Given the description of an element on the screen output the (x, y) to click on. 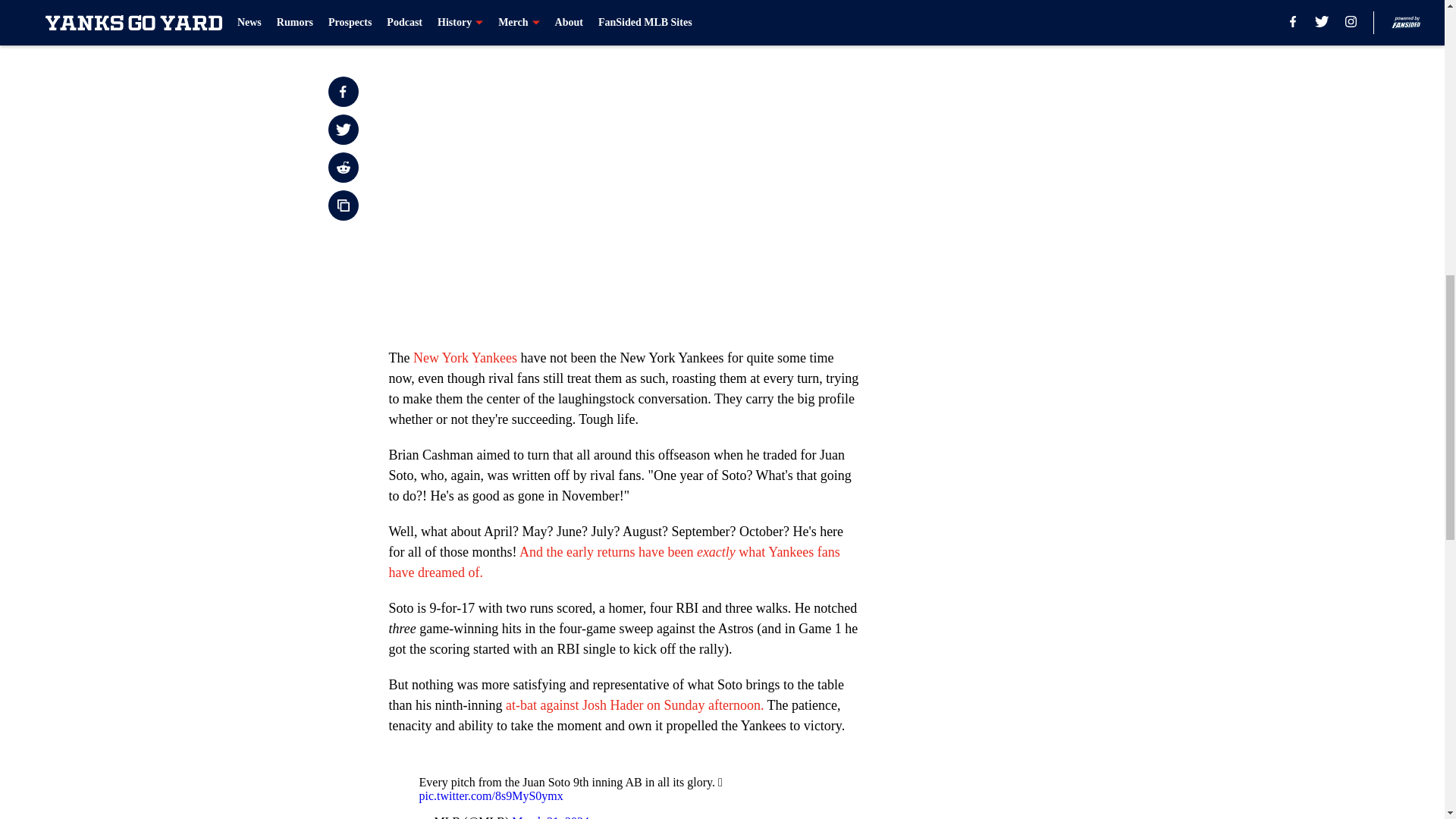
March 31, 2024 (550, 816)
at-bat against Josh Hader on Sunday afternoon. (633, 704)
New York Yankees (464, 357)
